Given the description of an element on the screen output the (x, y) to click on. 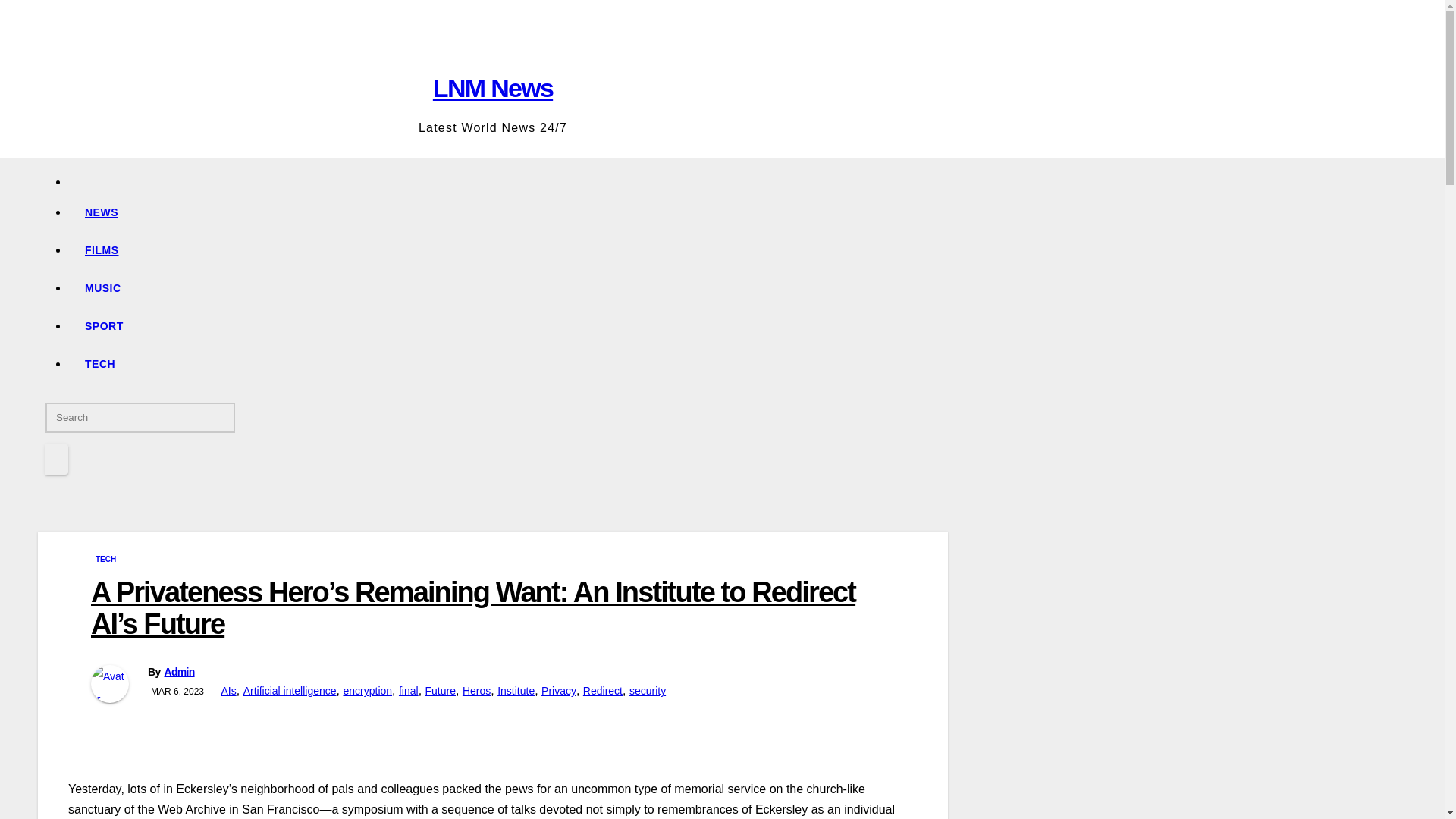
Tech (507, 363)
encryption (366, 690)
SPORT (507, 325)
LNM News (492, 87)
final (408, 690)
TECH (105, 559)
security (646, 690)
News (507, 211)
Artificial intelligence (289, 690)
Institute (515, 690)
Music (507, 288)
AIs (228, 690)
Heros (476, 690)
TECH (507, 363)
Admin (178, 671)
